Given the description of an element on the screen output the (x, y) to click on. 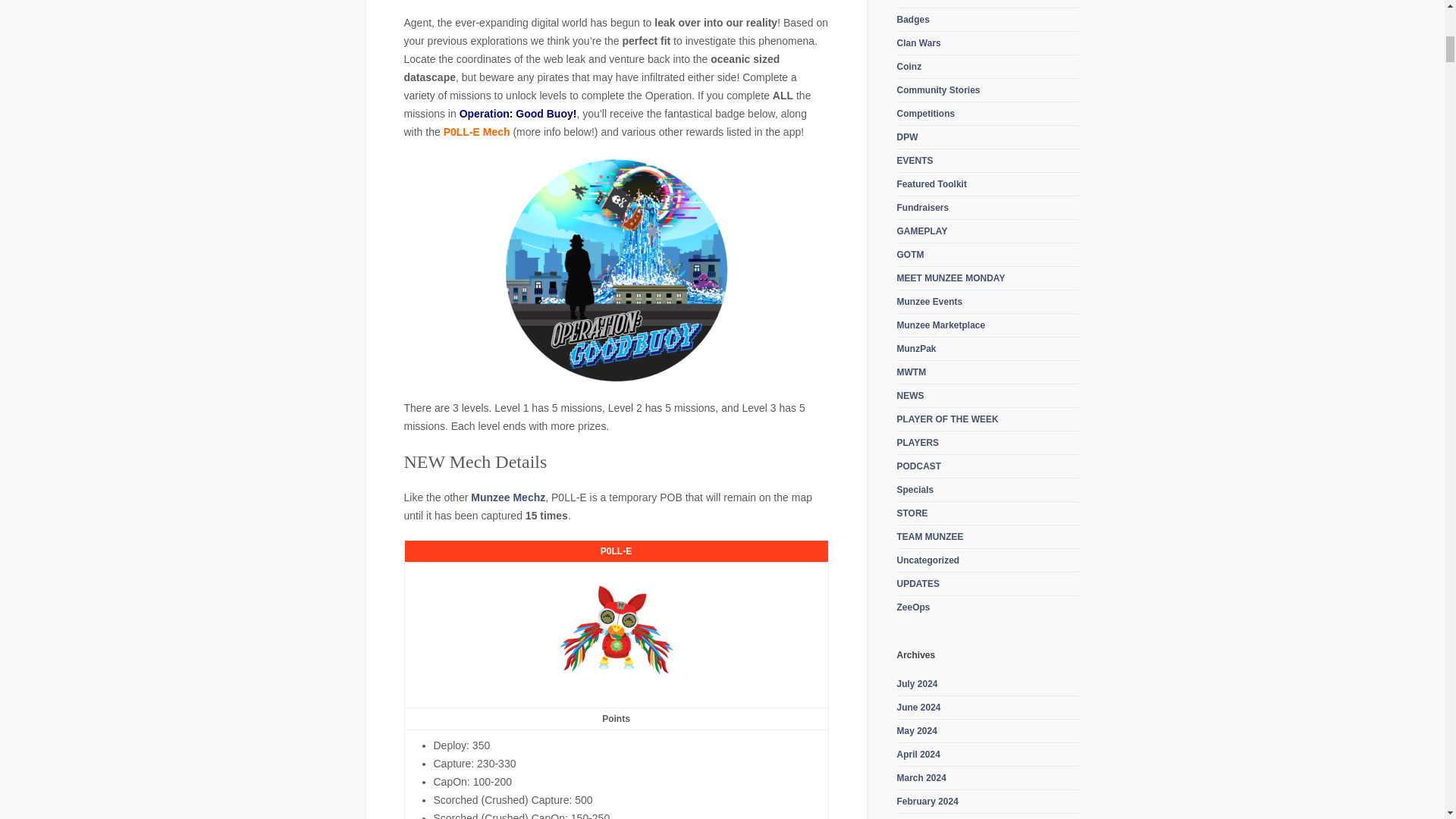
Munzee Mechz (507, 497)
